Given the description of an element on the screen output the (x, y) to click on. 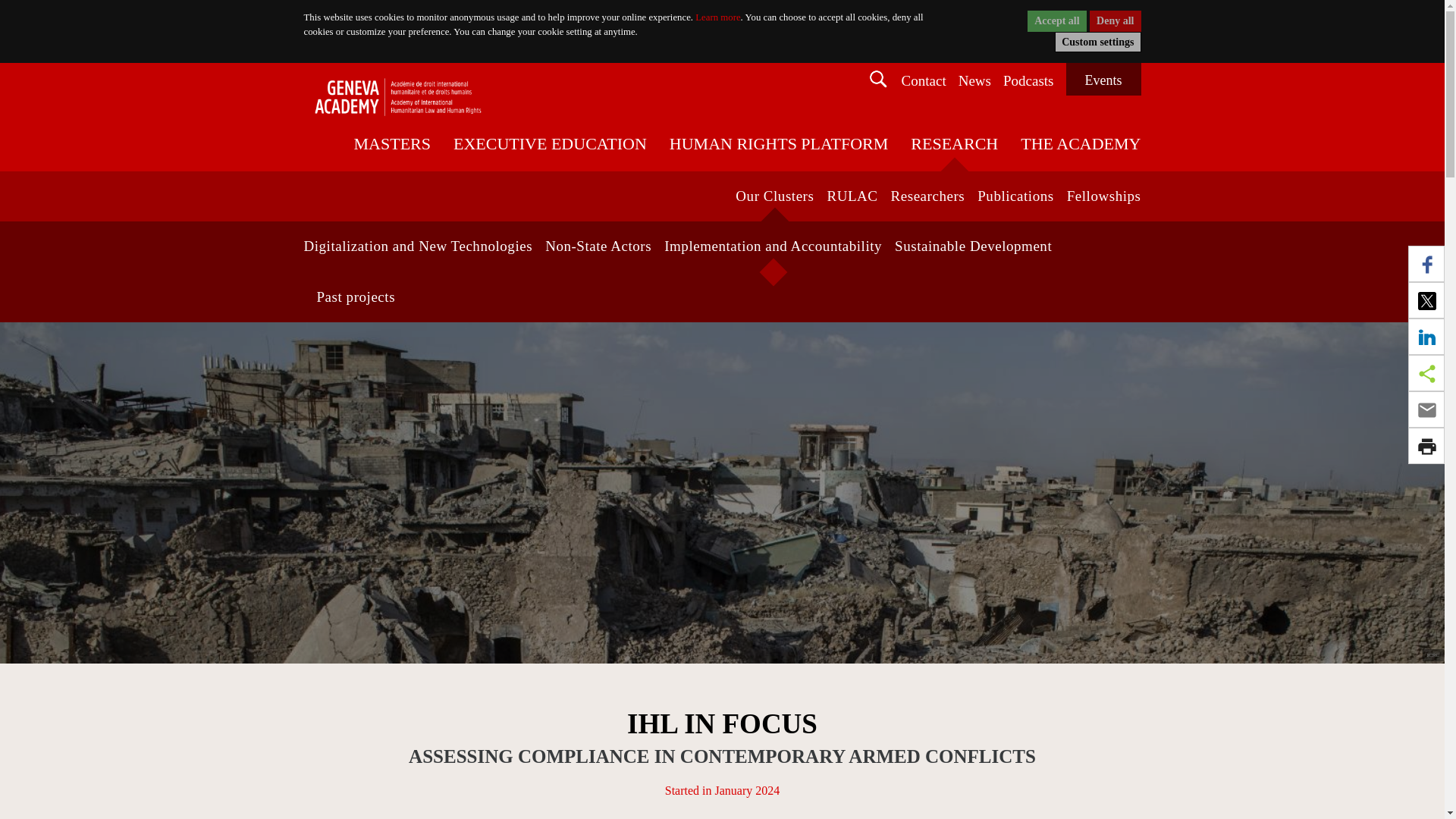
Deny all (1114, 20)
Custom settings (1097, 42)
Learn more (717, 17)
Accept all (1056, 20)
